Given the description of an element on the screen output the (x, y) to click on. 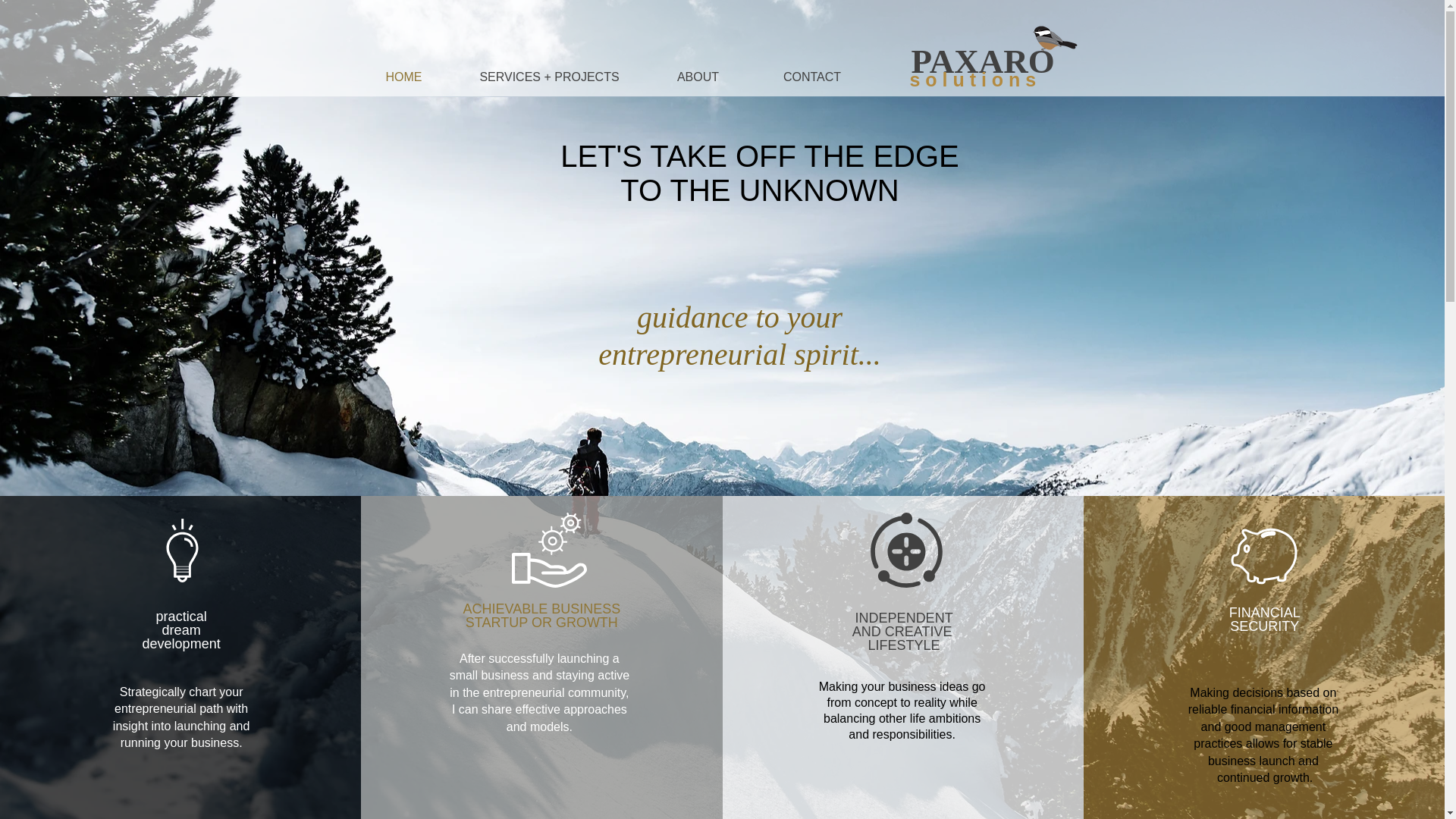
HOME (402, 77)
CONTACT (811, 77)
ABOUT (698, 77)
